Given the description of an element on the screen output the (x, y) to click on. 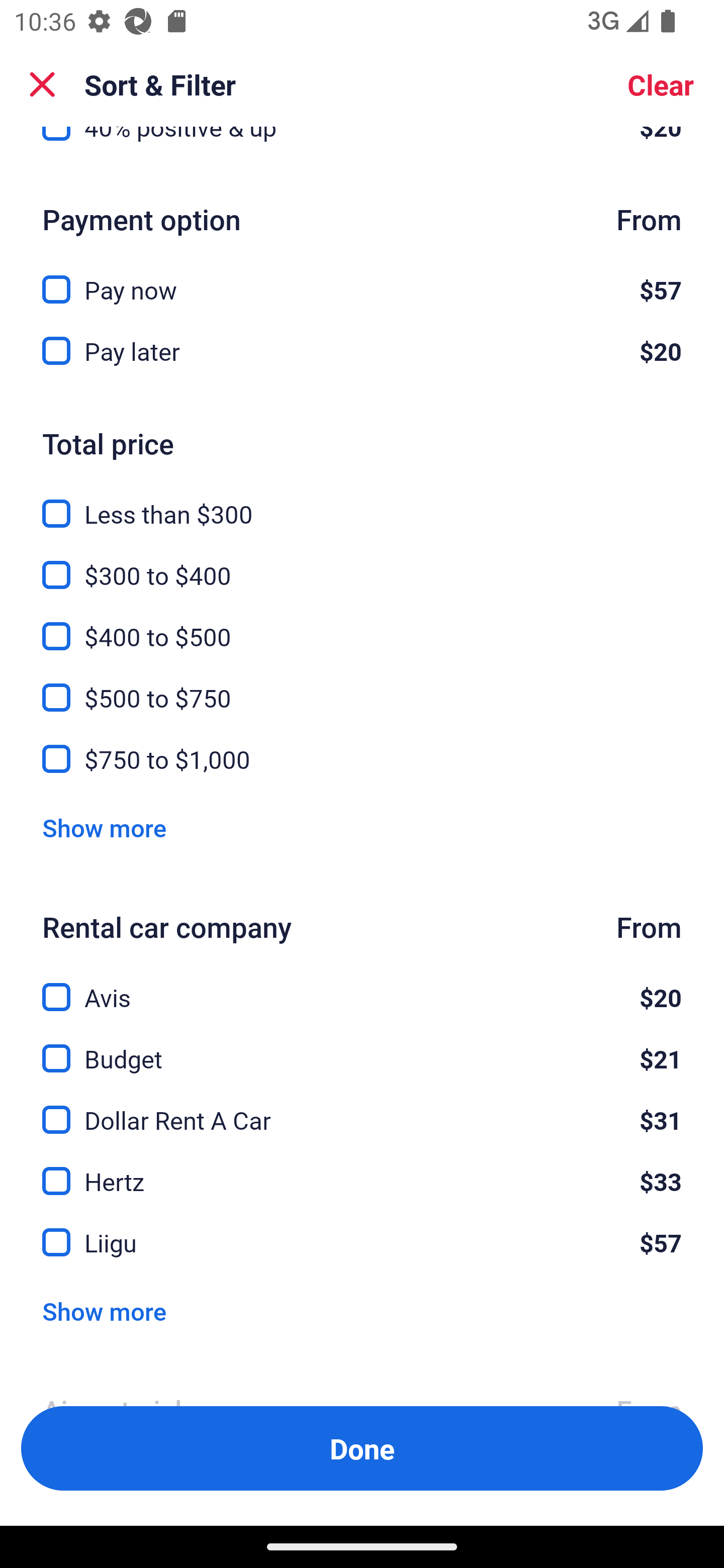
Close Sort and Filter (42, 84)
Clear (660, 84)
40% positive & up, $20 40% positive & up $20 (361, 148)
Pay now, $57 Pay now $57 (361, 277)
Pay later, $20 Pay later $20 (361, 350)
Less than $300, Less than $300 (361, 502)
$300 to $400, $300 to $400 (361, 563)
$400 to $500, $400 to $500 (361, 624)
$500 to $750, $500 to $750 (361, 685)
$750 to $1,000, $750 to $1,000 (361, 758)
Show more Show more Link (103, 827)
Avis, $20 Avis $20 (361, 985)
Budget, $21 Budget $21 (361, 1047)
Dollar Rent A Car, $31 Dollar Rent A Car $31 (361, 1108)
Hertz, $33 Hertz $33 (361, 1170)
Liigu, $57 Liigu $57 (361, 1243)
Show more Show more Link (103, 1310)
Apply and close Sort and Filter Done (361, 1448)
